Given the description of an element on the screen output the (x, y) to click on. 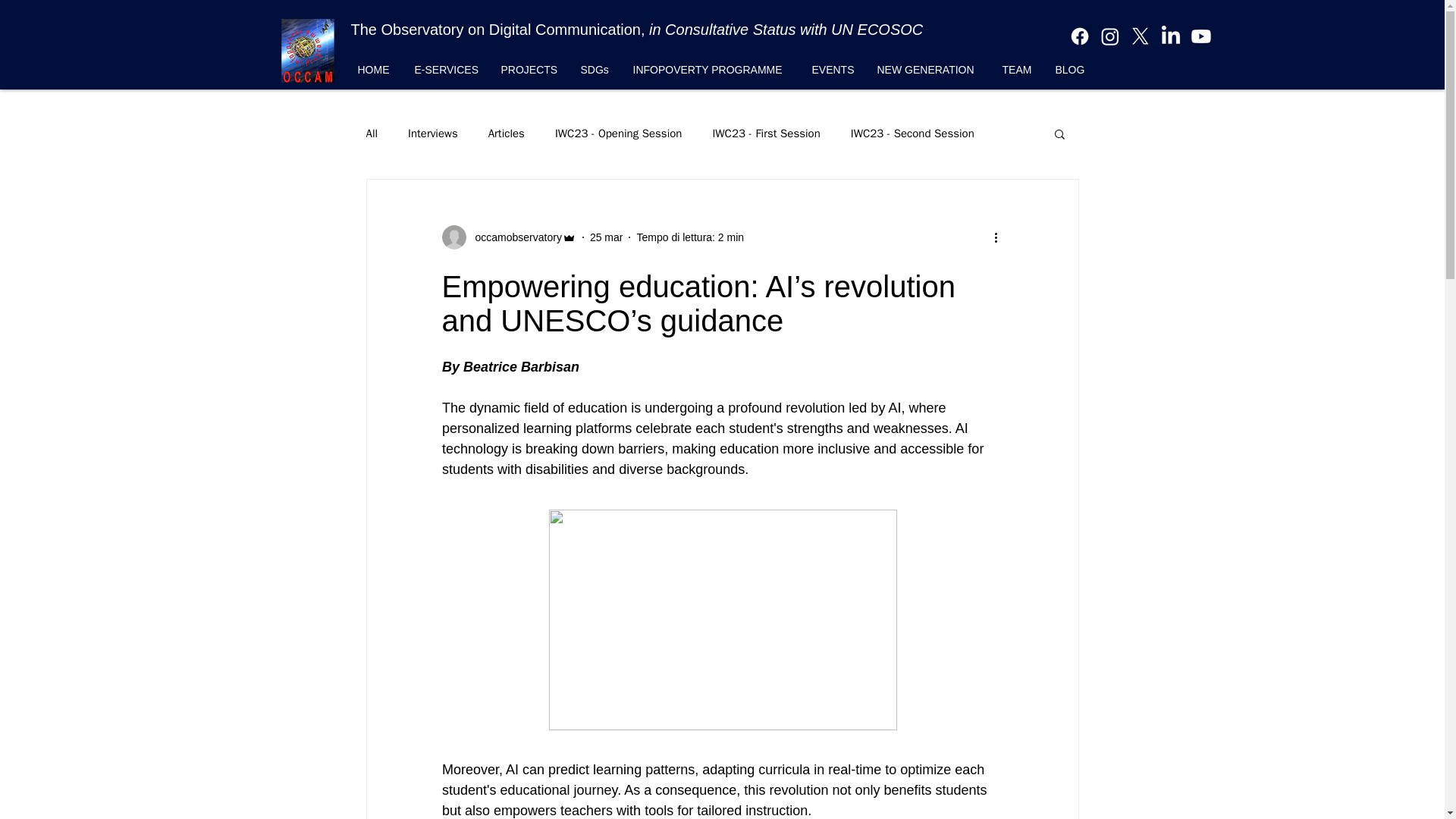
PROJECTS (529, 69)
E-SERVICES (446, 69)
Tempo di lettura: 2 min (690, 236)
EVENTS (833, 69)
NEW GENERATION (928, 69)
occamobservatory (508, 237)
IWC23 - Second Session (912, 133)
occamobservatory (512, 236)
IWC23 - First Session (765, 133)
INFOPOVERTY PROGRAMME (710, 69)
BLOG (1070, 69)
IWC23 - Opening Session (618, 133)
25 mar (606, 236)
TEAM (1016, 69)
HOME (374, 69)
